Given the description of an element on the screen output the (x, y) to click on. 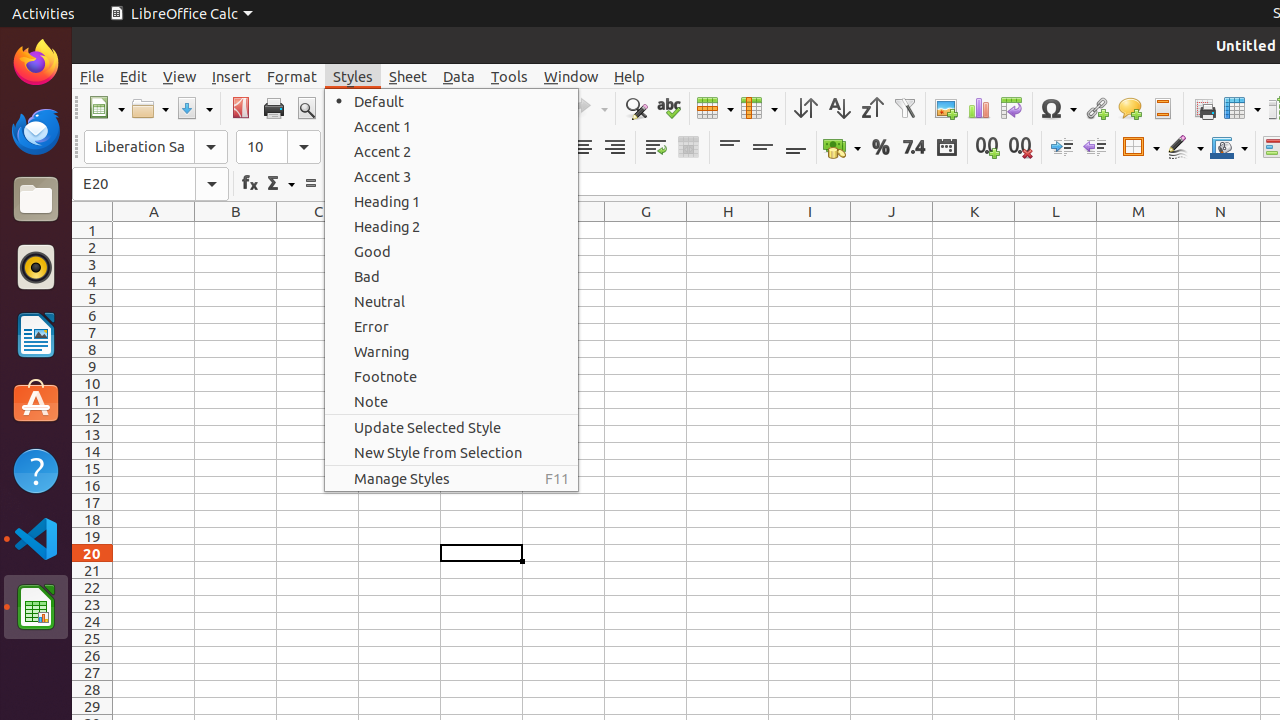
Pivot Table Element type: push-button (1011, 108)
Percent Element type: push-button (880, 147)
Font Size Element type: combo-box (278, 147)
Files Element type: push-button (36, 199)
A1 Element type: table-cell (154, 230)
